Given the description of an element on the screen output the (x, y) to click on. 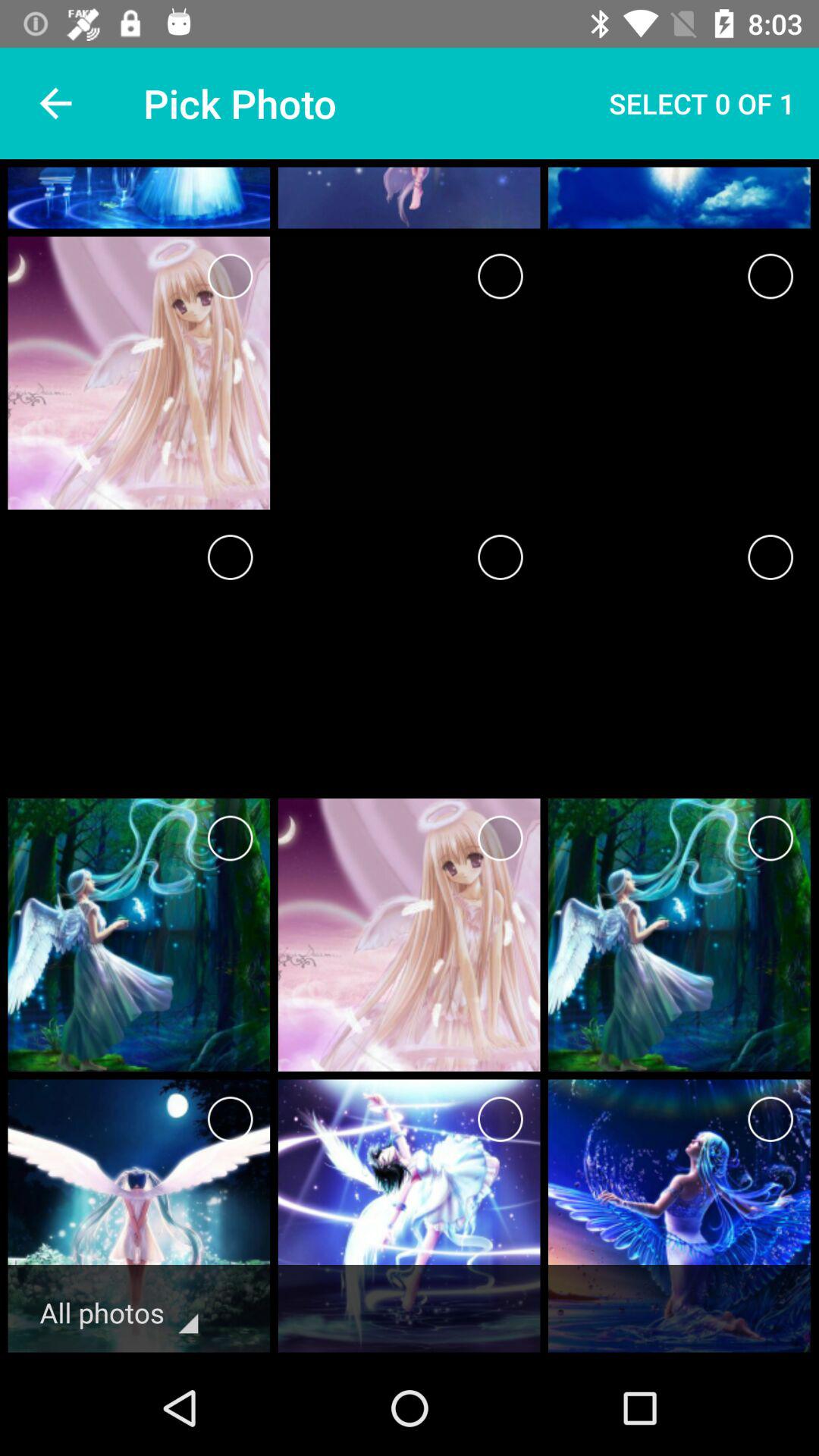
select option (500, 557)
